Given the description of an element on the screen output the (x, y) to click on. 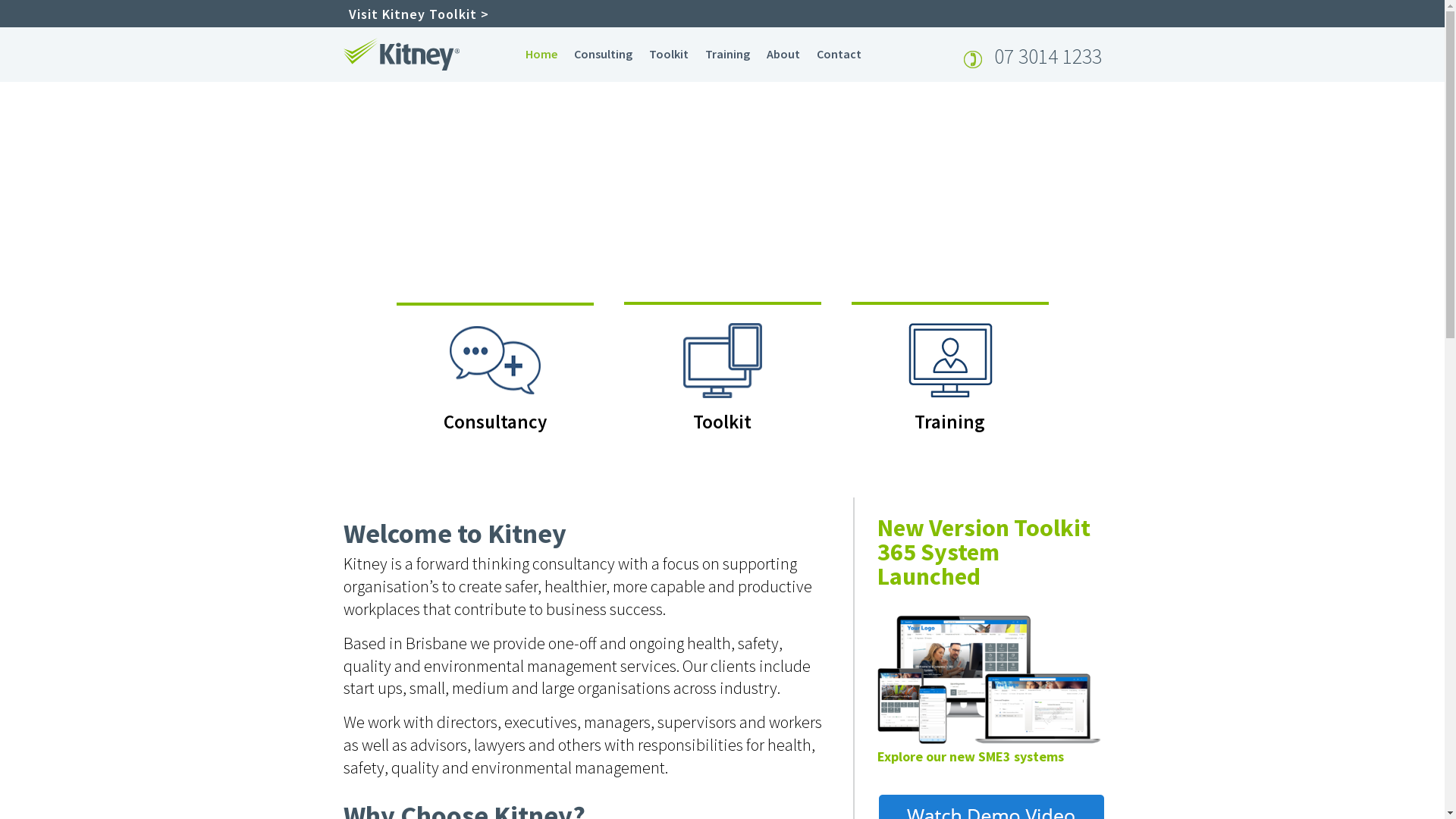
Training Element type: text (949, 372)
Toolkit Element type: text (668, 56)
Explore our new SME3 systems Element type: text (969, 756)
Consulting Element type: text (602, 56)
Home Element type: text (540, 56)
About Element type: text (782, 56)
Visit Kitney Toolkit > Element type: text (418, 13)
Consultancy Element type: text (494, 373)
Contact Element type: text (837, 56)
Toolkit Element type: text (721, 372)
Training Element type: text (727, 56)
